Given the description of an element on the screen output the (x, y) to click on. 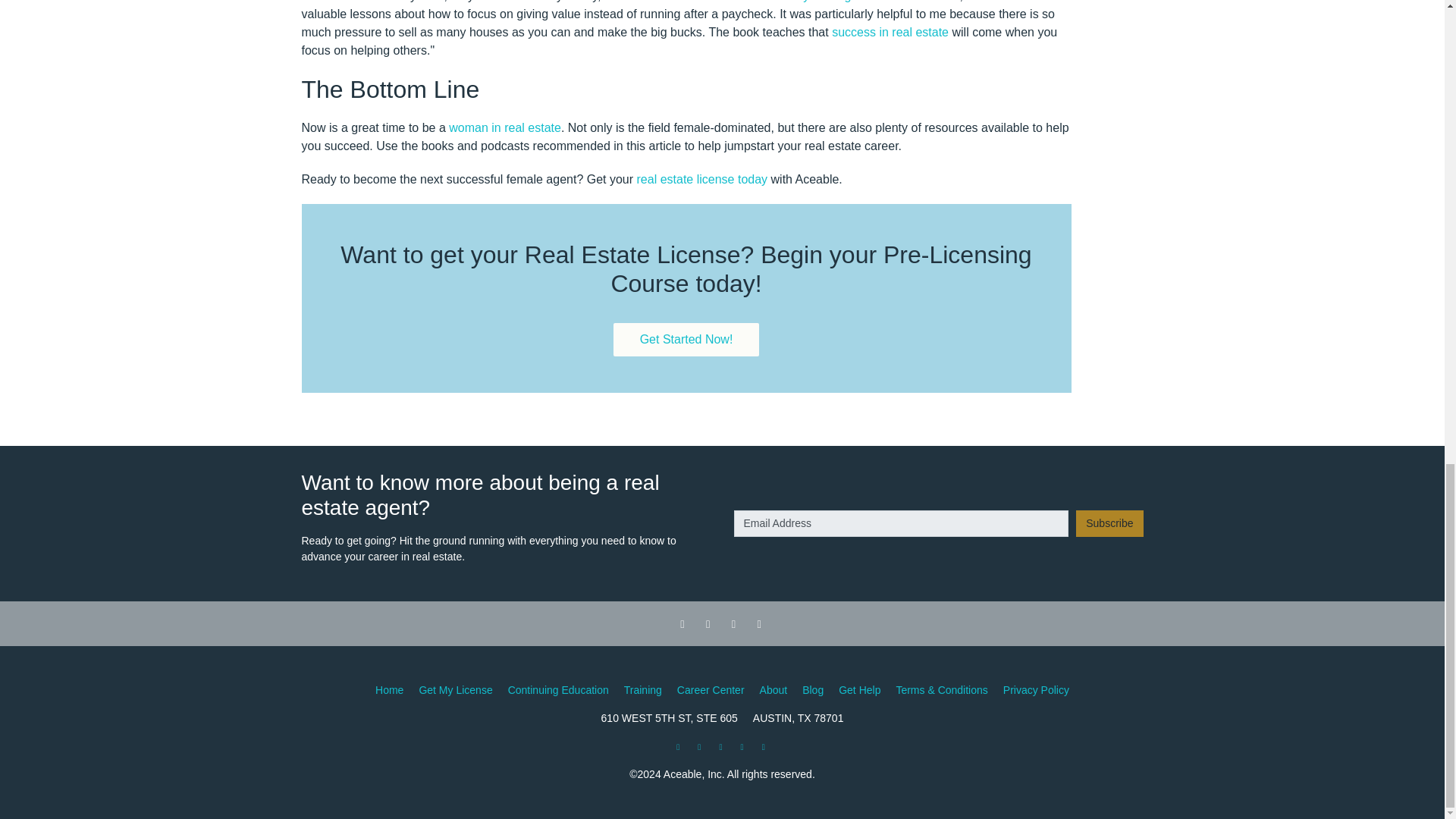
success in real estate (890, 31)
Century 21 Edge (812, 1)
woman in real estate (504, 127)
Email Address (900, 523)
